Given the description of an element on the screen output the (x, y) to click on. 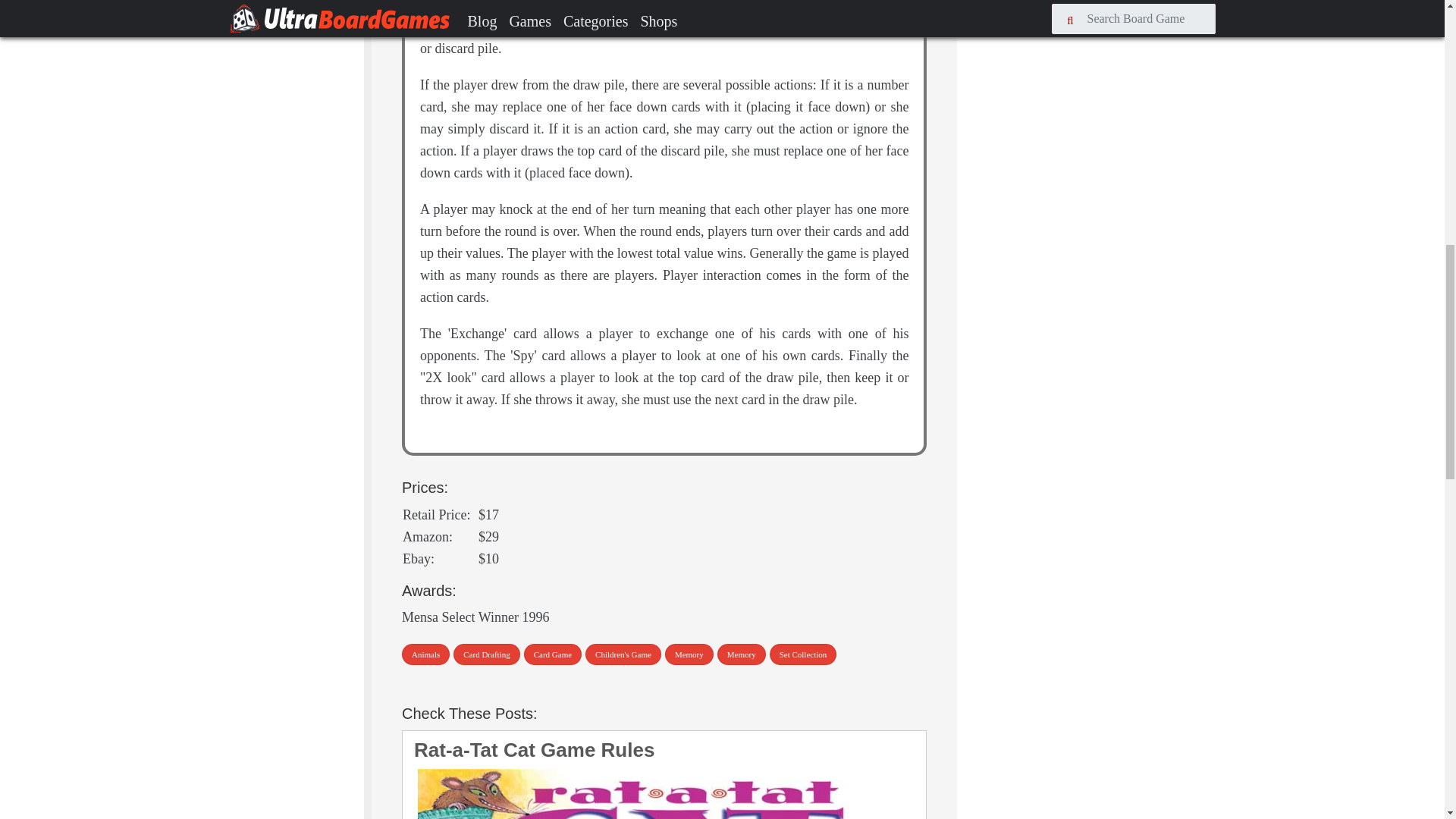
Set Collection (803, 653)
Memory (741, 653)
Card Drafting (485, 653)
Animals (425, 653)
Card Game (552, 653)
Children's Game (623, 653)
Memory (689, 653)
